Given the description of an element on the screen output the (x, y) to click on. 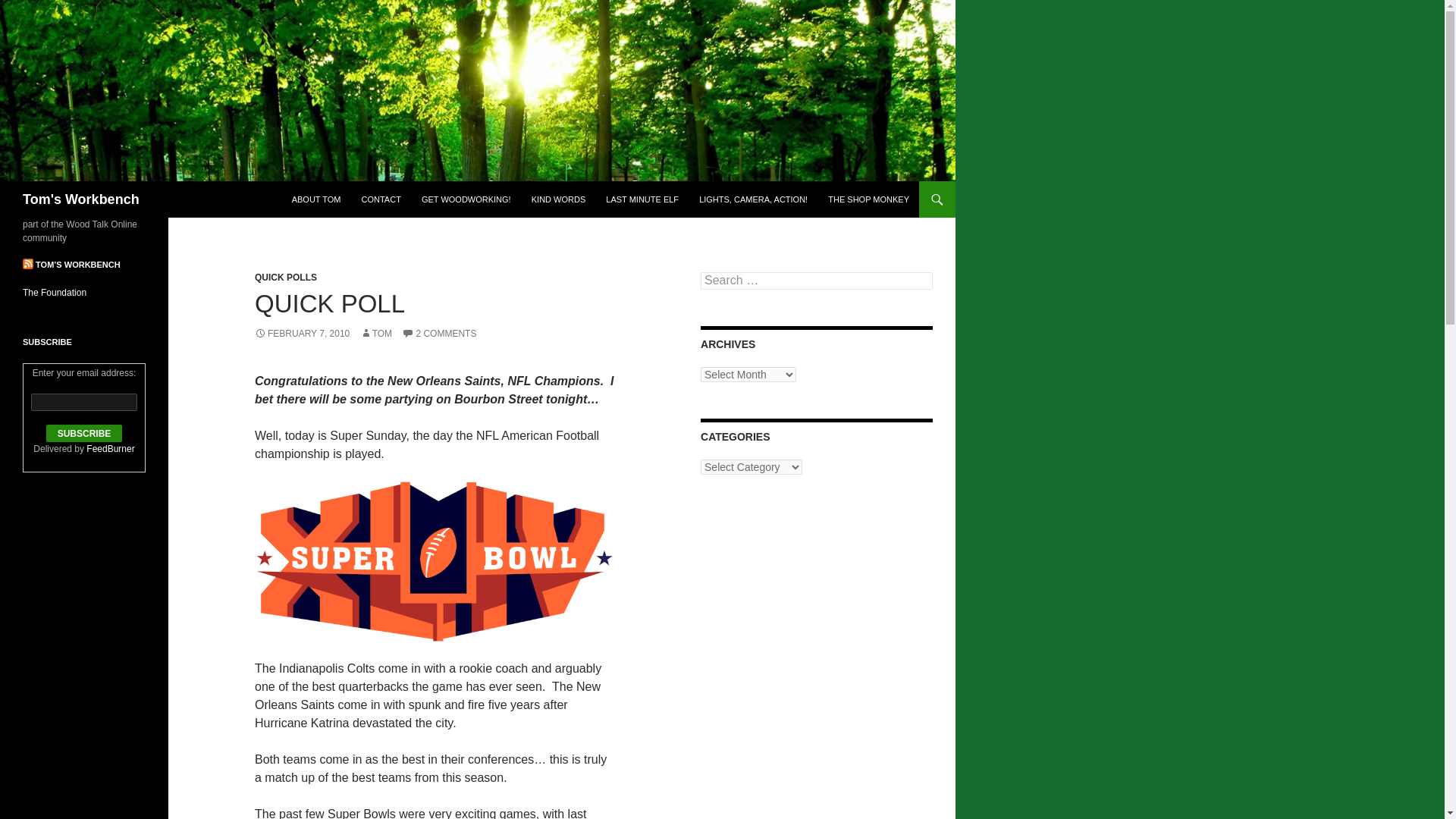
The Foundation (54, 292)
Tom's Workbench (81, 198)
Subscribe (84, 433)
2 COMMENTS (438, 333)
Super Bowl XLIV Logo (434, 561)
KIND WORDS (558, 198)
ABOUT TOM (316, 198)
THE SHOP MONKEY (868, 198)
LIGHTS, CAMERA, ACTION! (753, 198)
FeedBurner (109, 448)
Search (30, 8)
LAST MINUTE ELF (641, 198)
GET WOODWORKING! (465, 198)
Subscribe (84, 433)
